Given the description of an element on the screen output the (x, y) to click on. 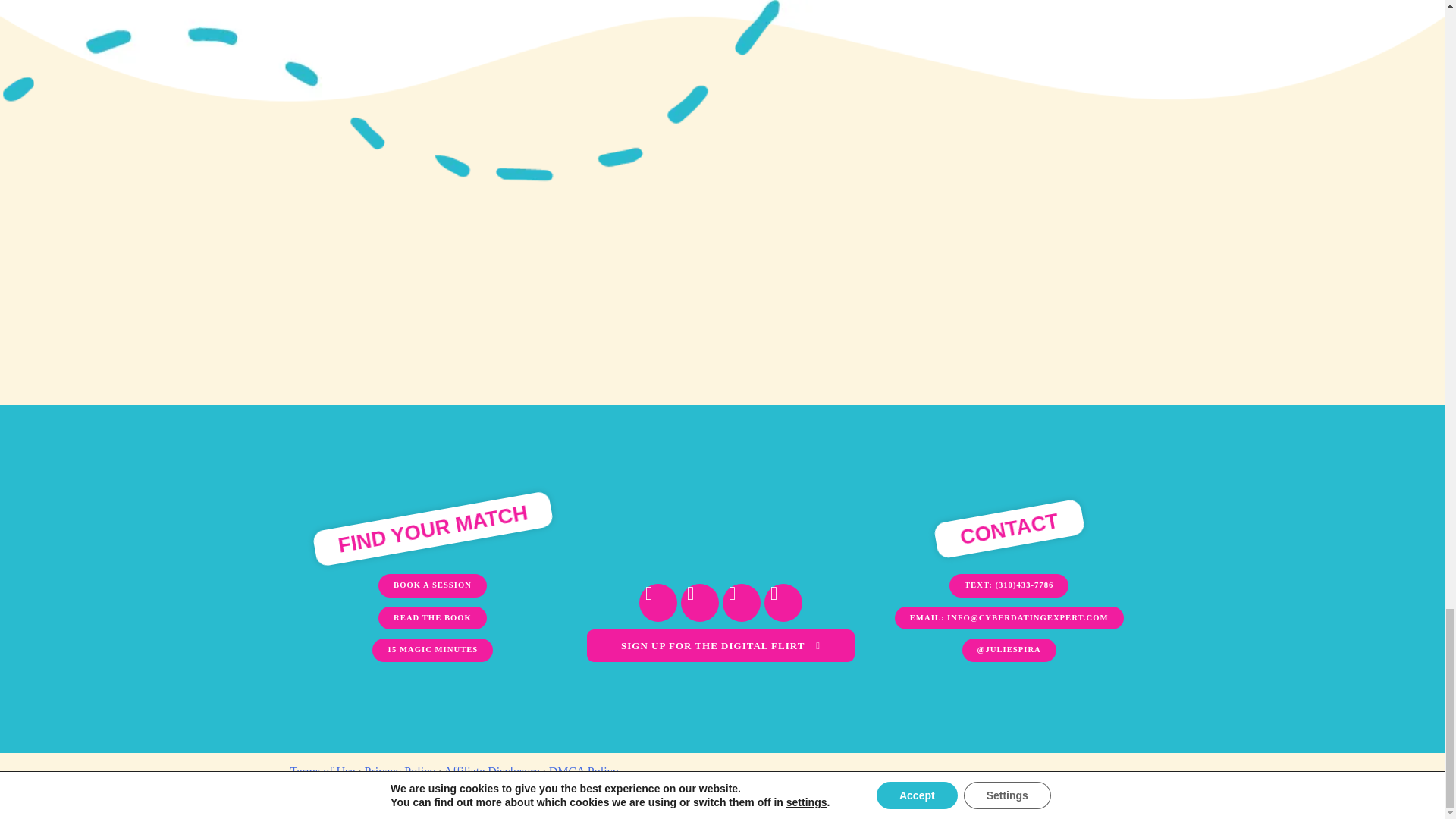
Terms of Use1 (322, 771)
DCMA Policy (583, 771)
Privacy Policy (399, 771)
Affiliate Disclosure (491, 771)
